Given the description of an element on the screen output the (x, y) to click on. 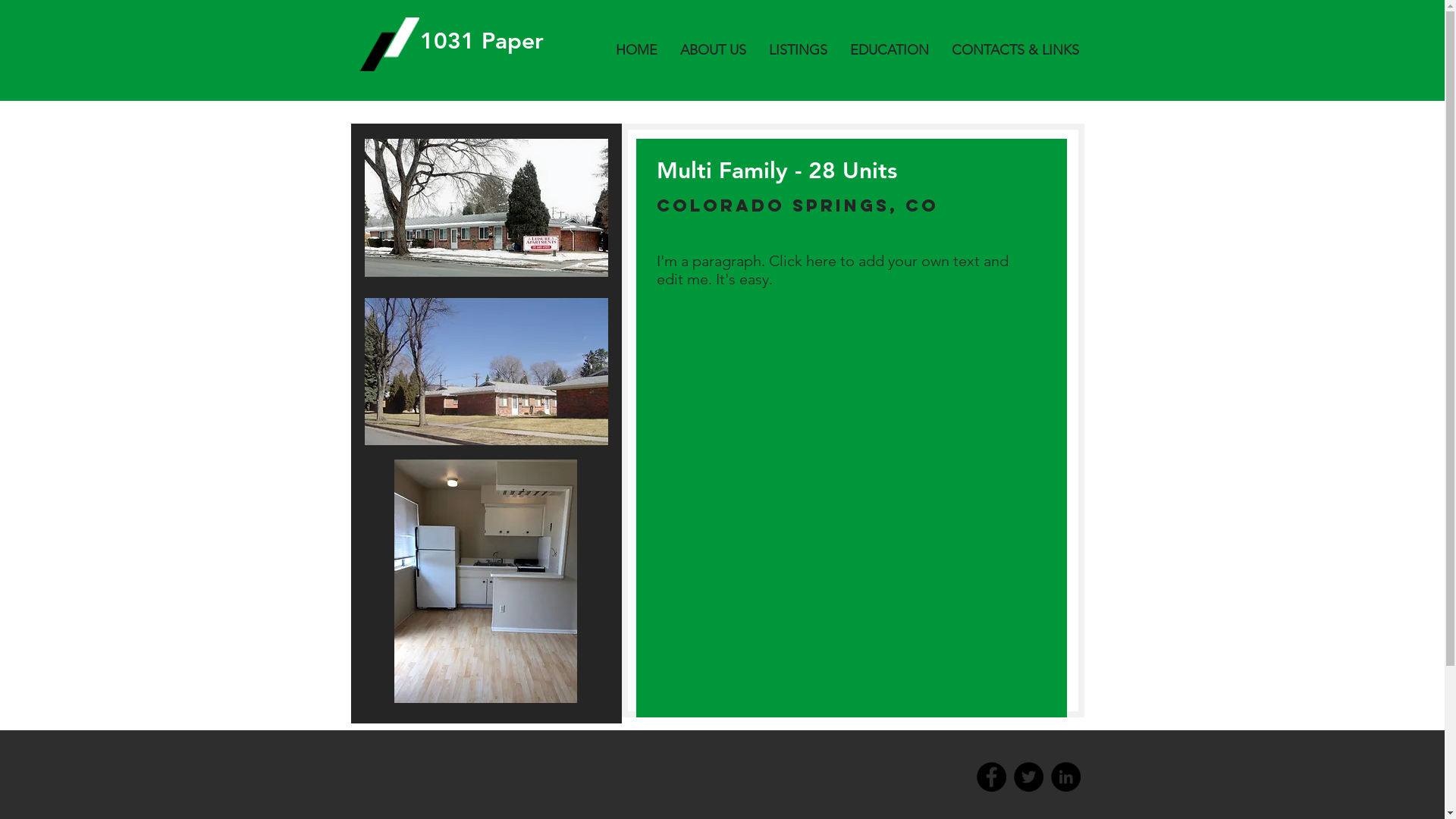
EDUCATION Element type: text (889, 49)
HOME Element type: text (635, 49)
1031 Paper Element type: text (481, 40)
ABOUT US Element type: text (712, 49)
LISTINGS Element type: text (796, 49)
CONTACTS & LINKS Element type: text (1015, 49)
